Given the description of an element on the screen output the (x, y) to click on. 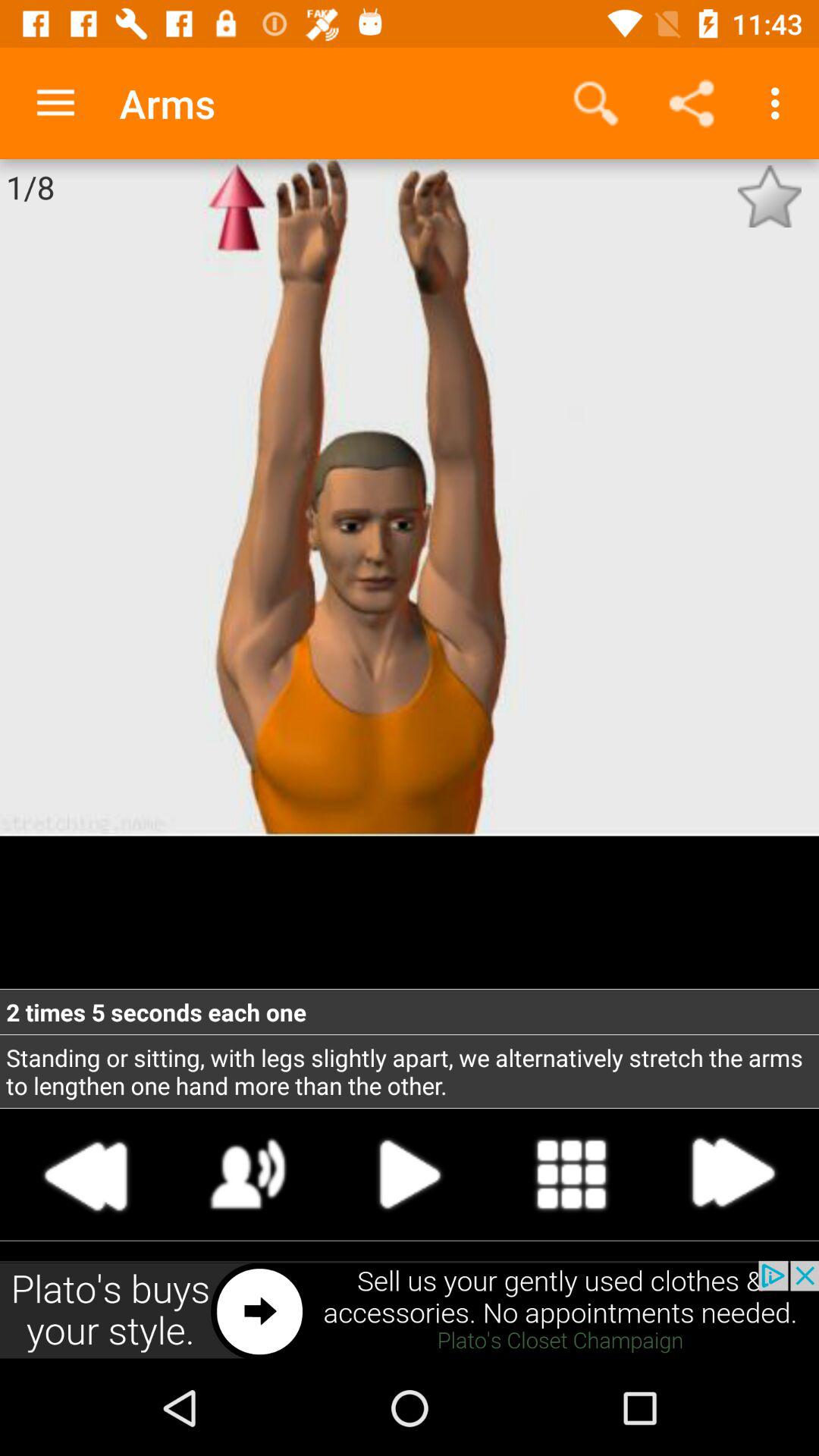
go to external advertisement (409, 1310)
